Given the description of an element on the screen output the (x, y) to click on. 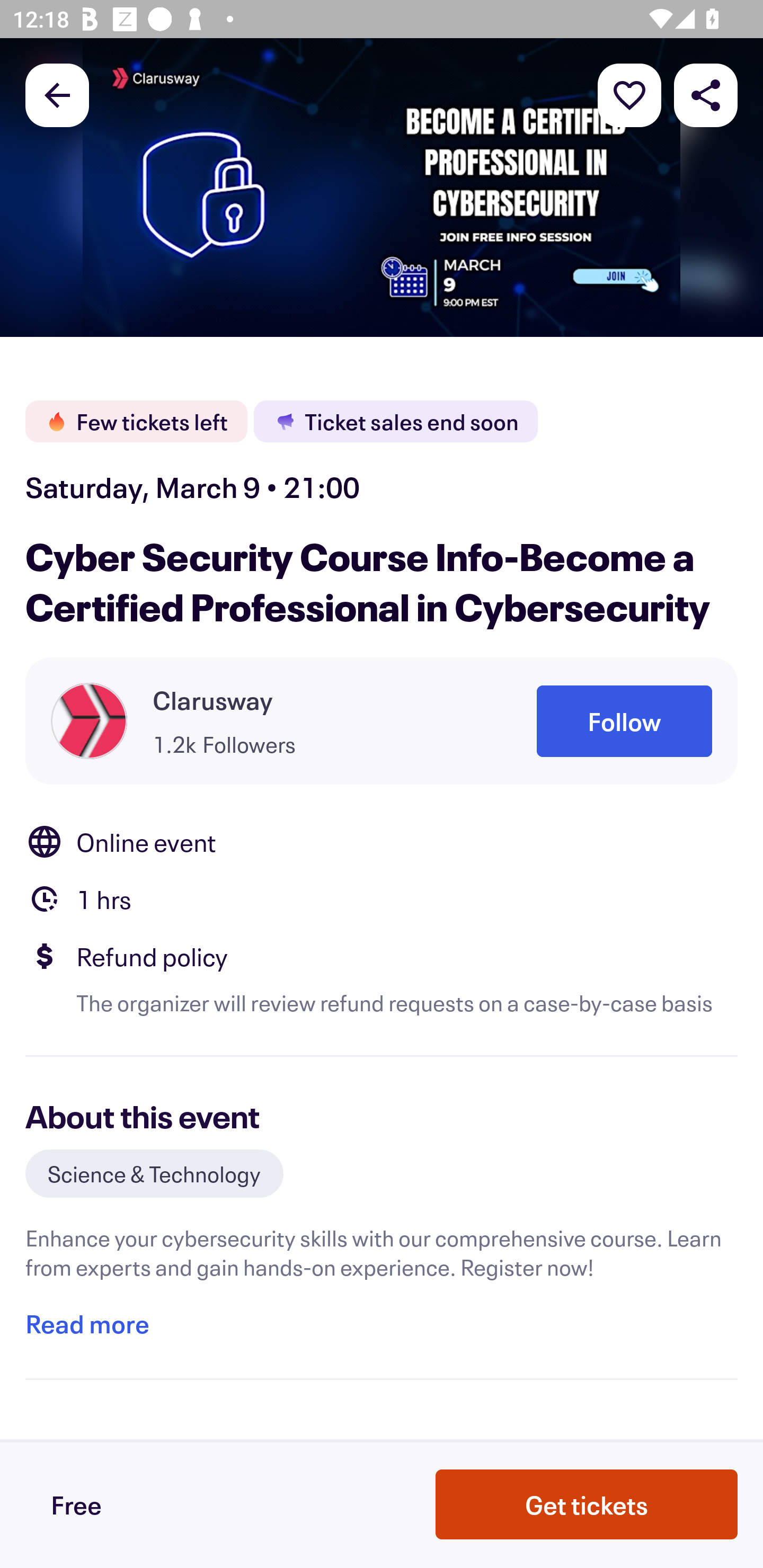
testappium002@gmal.com (381, 851)
